Given the description of an element on the screen output the (x, y) to click on. 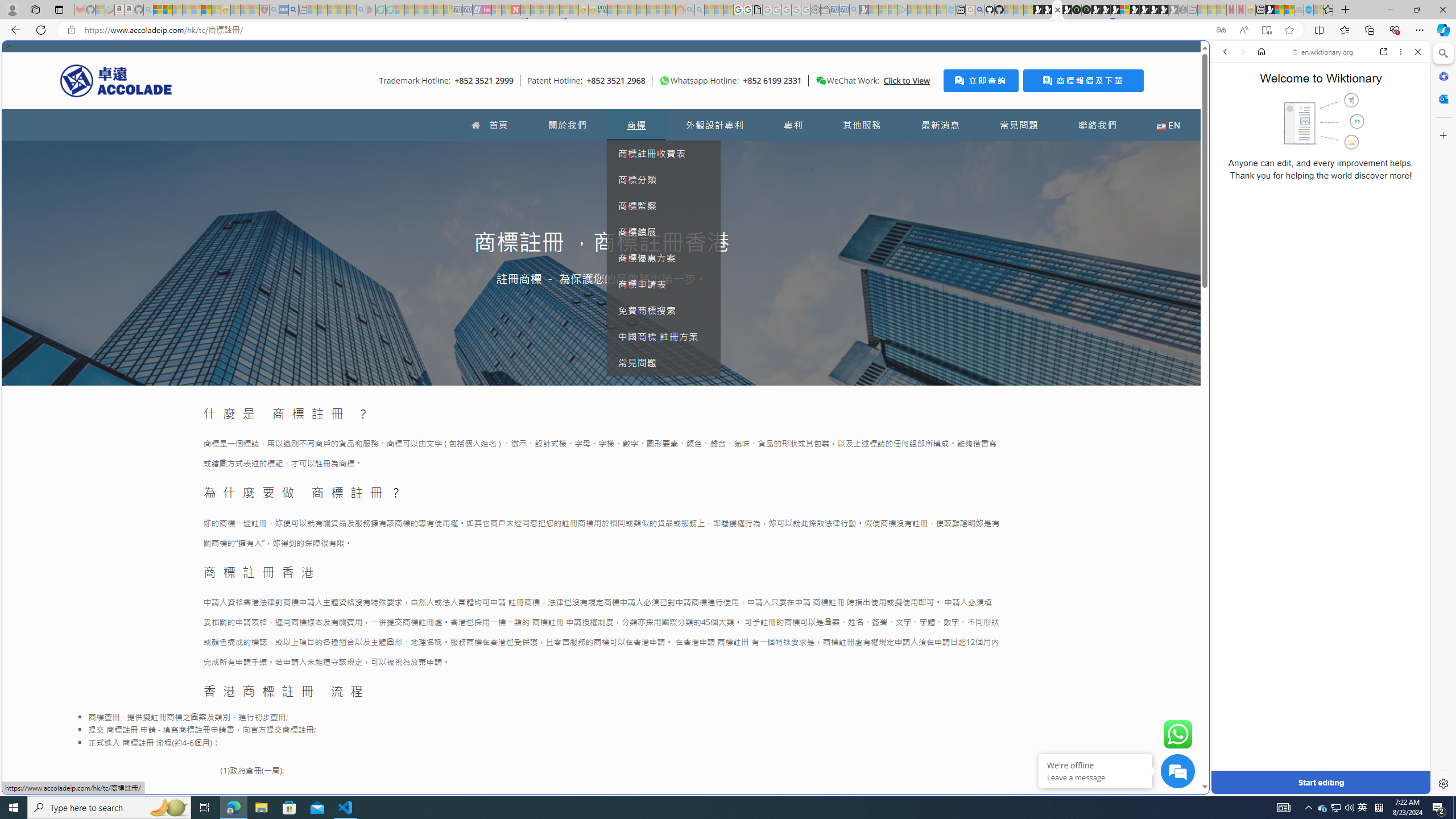
Bing Real Estate - Home sales and rental listings - Sleeping (853, 9)
New tab - Sleeping (1192, 9)
To get missing image descriptions, open the context menu. (664, 80)
Search or enter web address (922, 108)
